Given the description of an element on the screen output the (x, y) to click on. 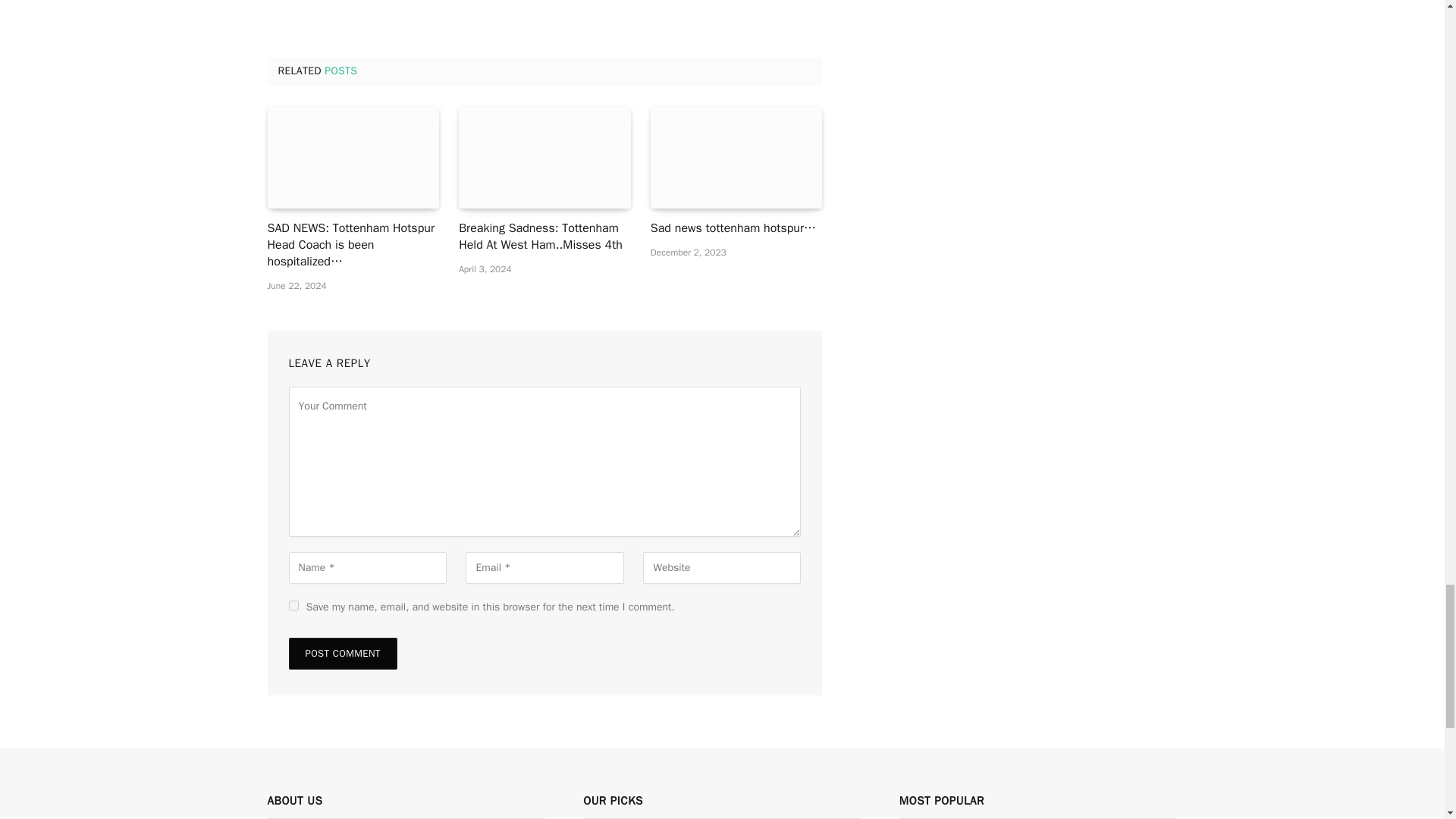
Post Comment (342, 653)
yes (293, 605)
